Given the description of an element on the screen output the (x, y) to click on. 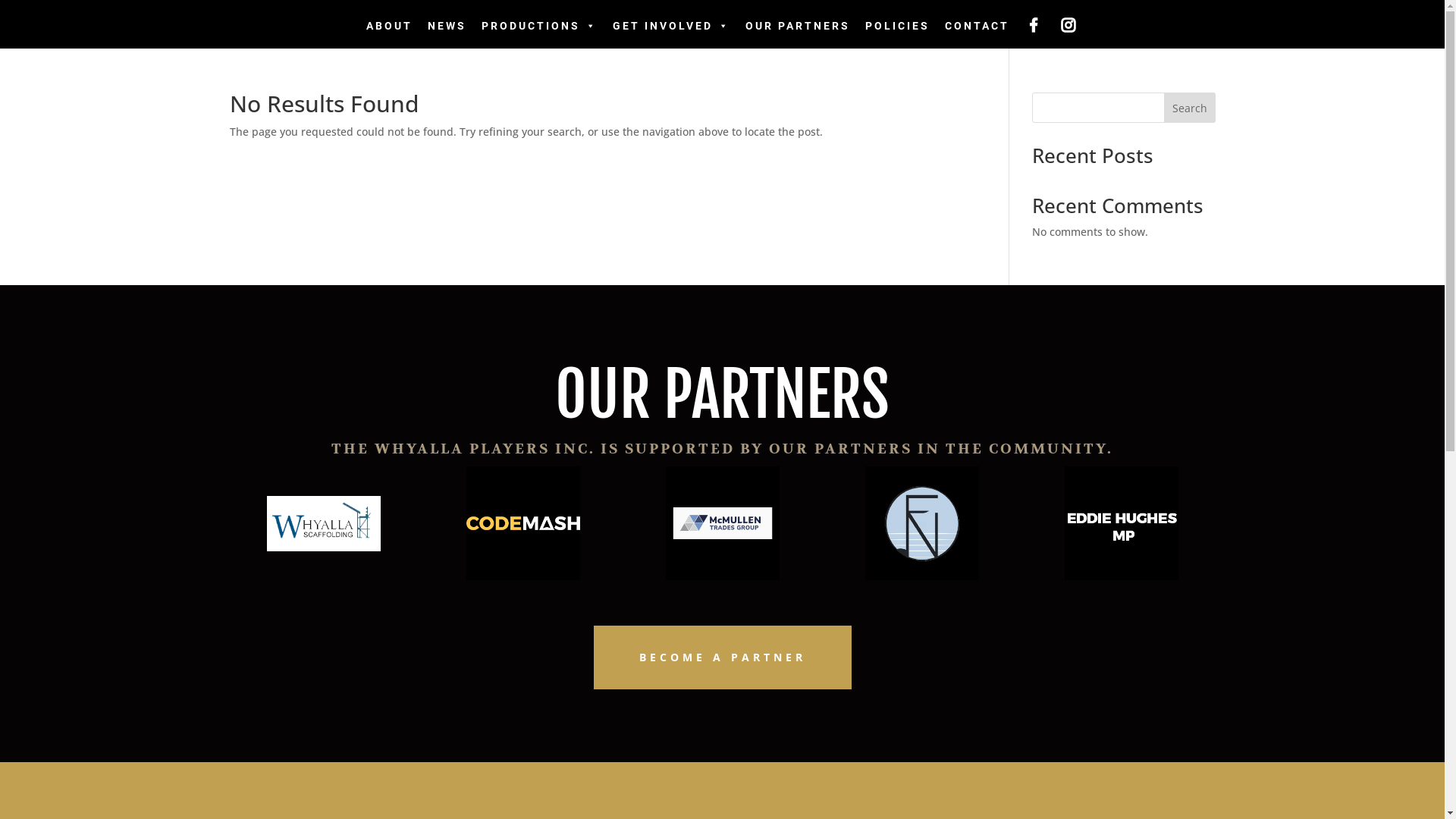
CONTACT Element type: text (976, 25)
POLICIES Element type: text (896, 25)
GET INVOLVED Element type: text (671, 25)
BECOME A PARTNER Element type: text (721, 657)
NEWS Element type: text (446, 25)
Search Element type: text (1189, 107)
PRODUCTIONS Element type: text (538, 25)
ABOUT Element type: text (388, 25)
OUR PARTNERS Element type: text (796, 25)
